Given the description of an element on the screen output the (x, y) to click on. 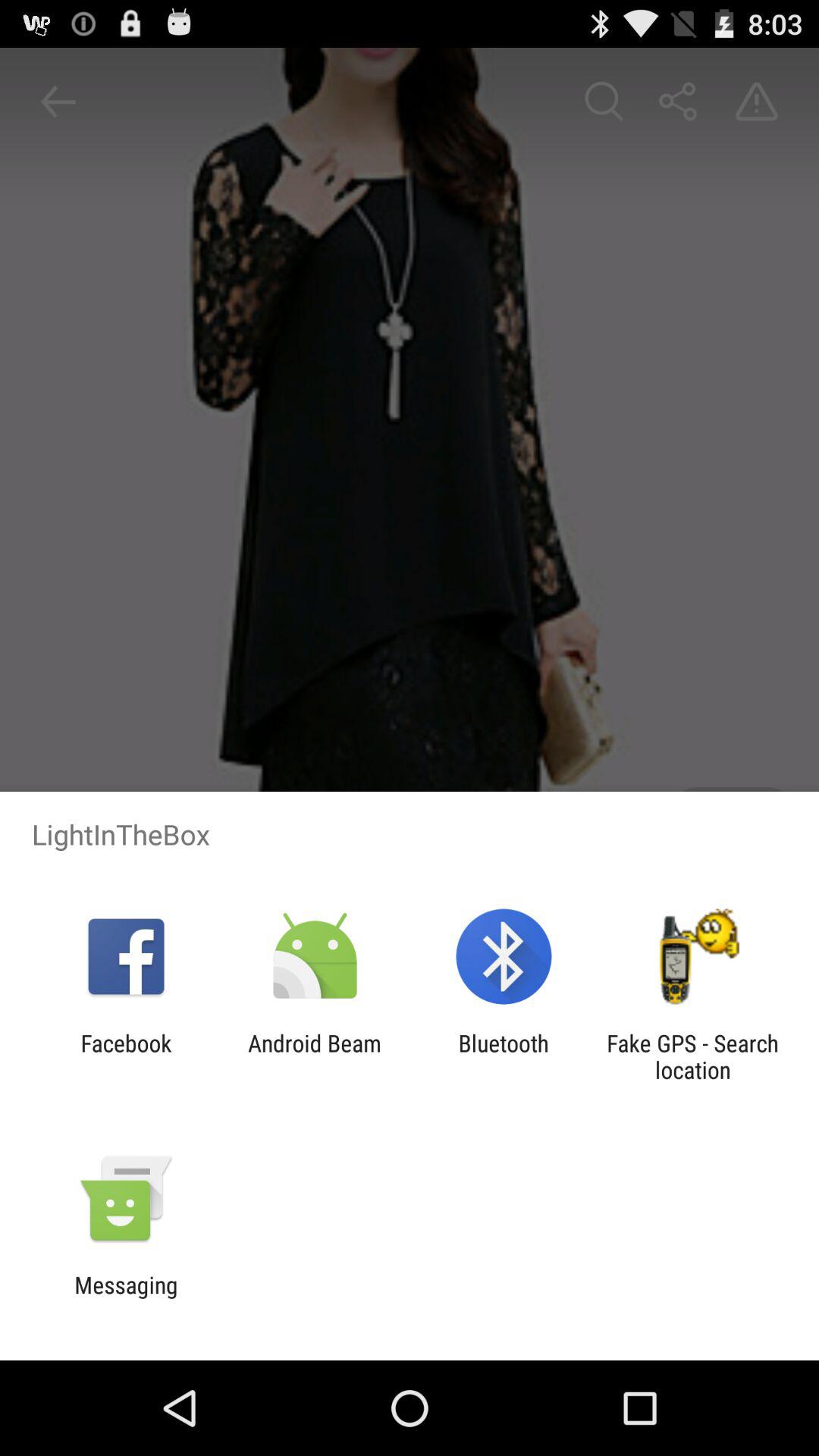
launch item to the left of the android beam app (125, 1056)
